Given the description of an element on the screen output the (x, y) to click on. 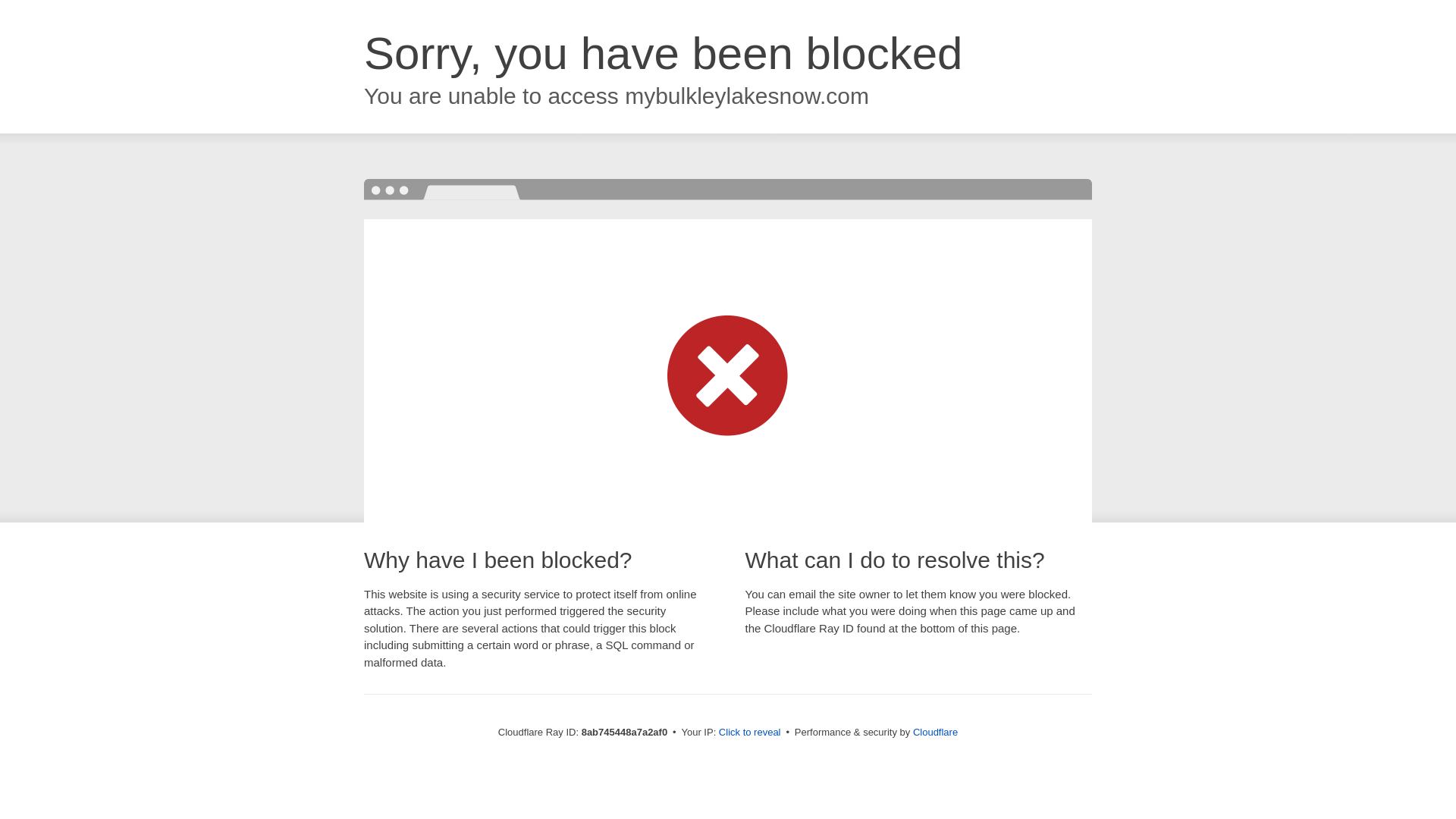
Cloudflare (935, 731)
Click to reveal (749, 732)
